Given the description of an element on the screen output the (x, y) to click on. 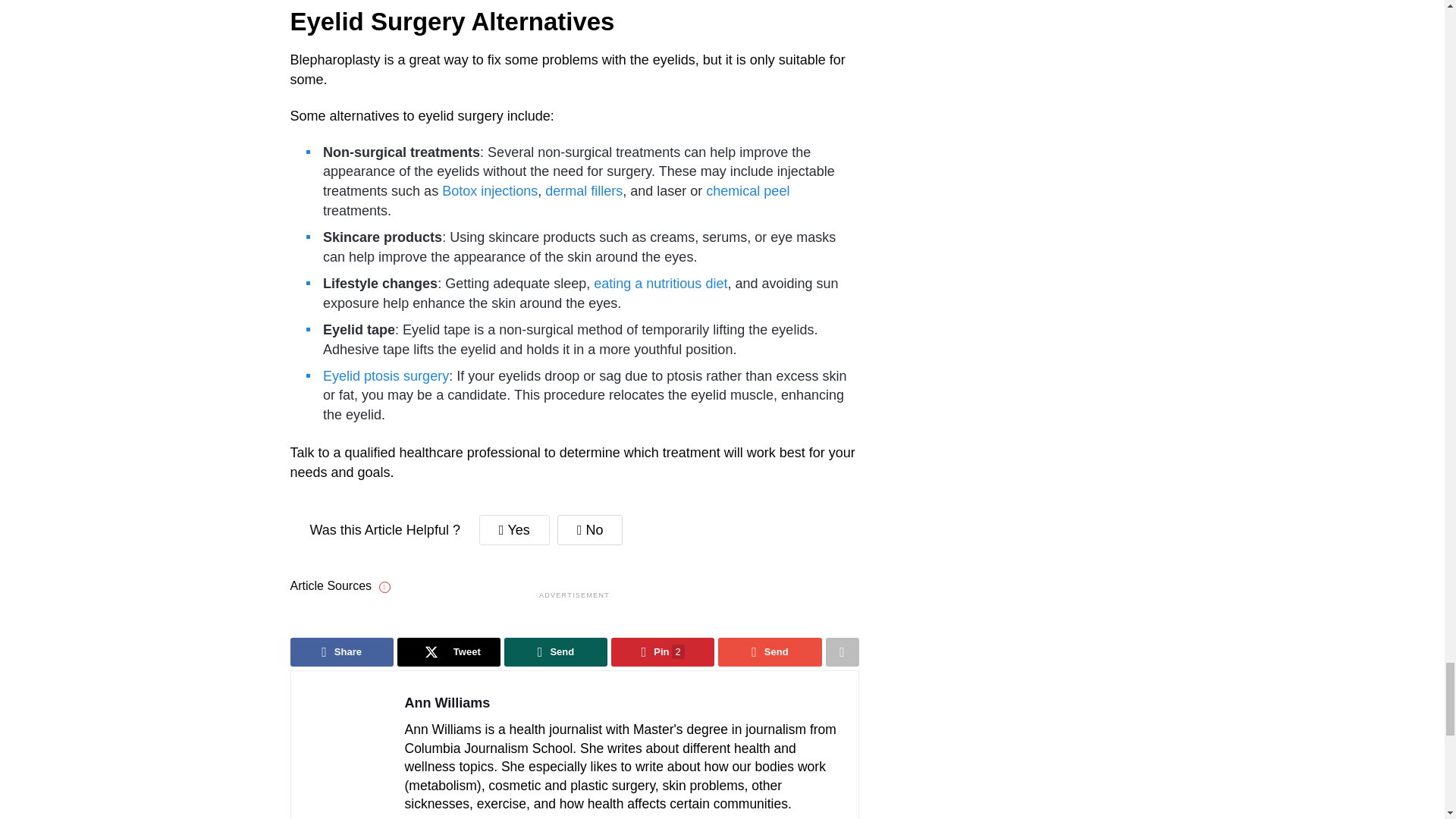
Yes (514, 530)
Eyelid ptosis surgery (385, 376)
eating a nutritious diet (660, 283)
chemical peel (747, 191)
Botox injections (489, 191)
dermal fillers (583, 191)
